Given the description of an element on the screen output the (x, y) to click on. 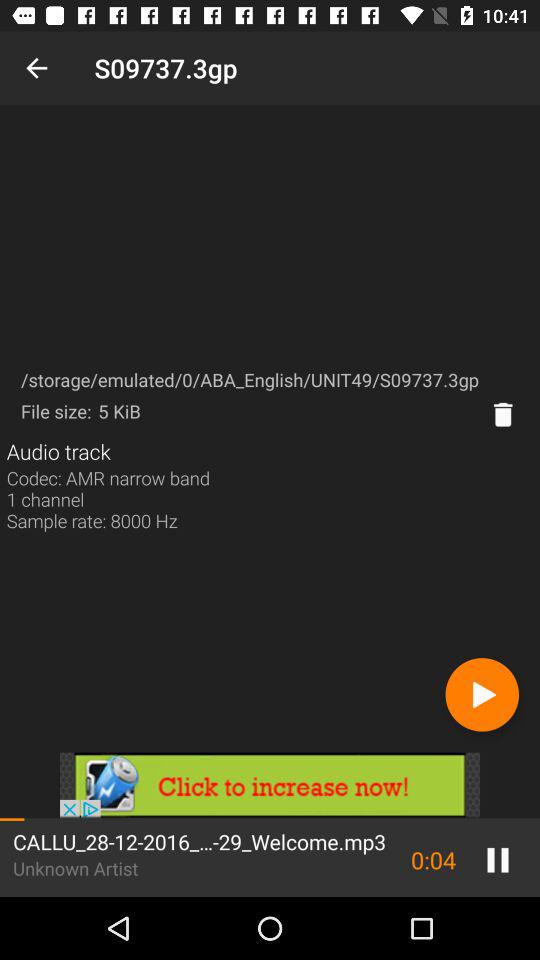
go to advertisement (270, 785)
